Given the description of an element on the screen output the (x, y) to click on. 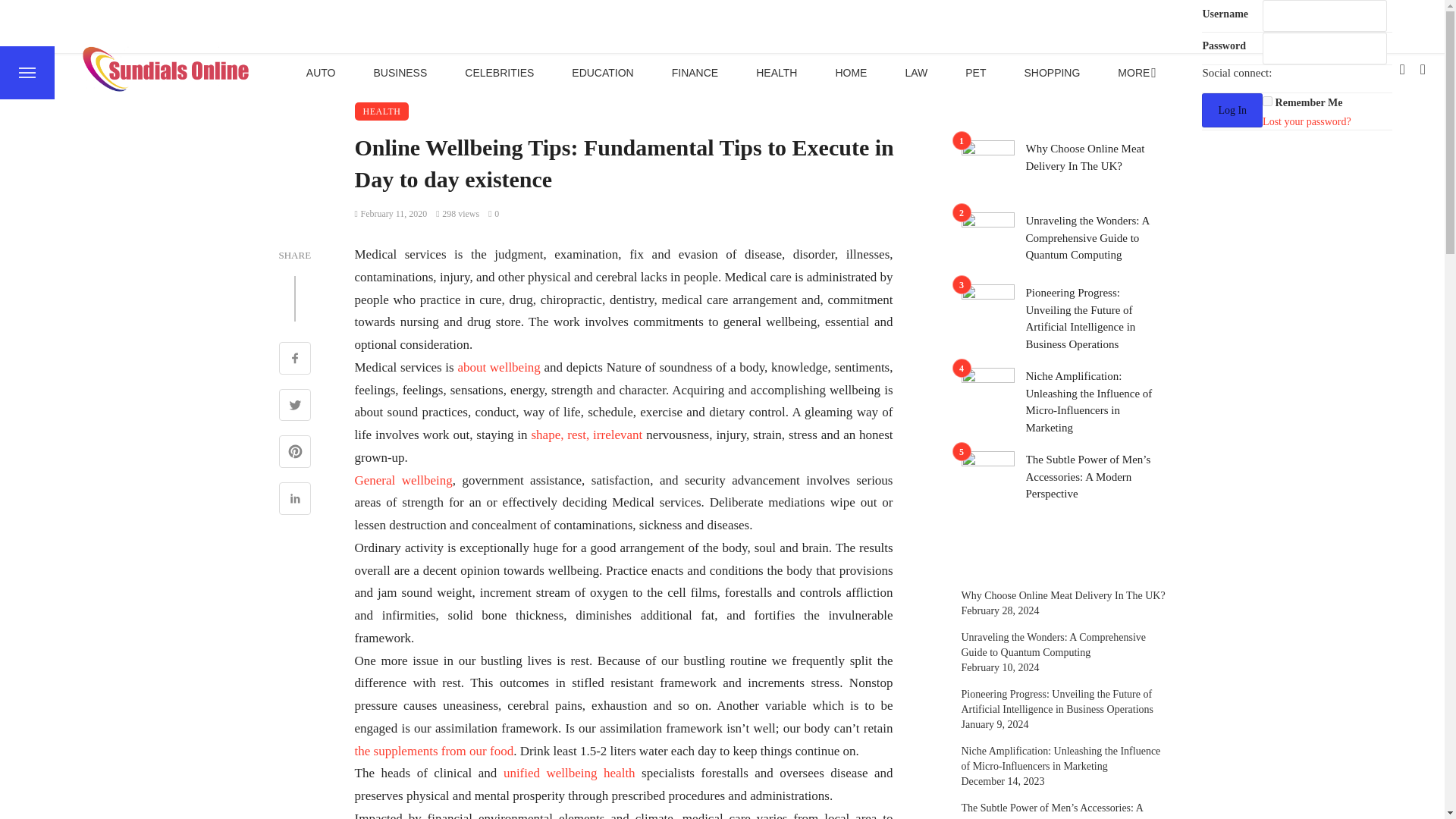
Password Lost and Found (1306, 121)
Share on Facebook (295, 360)
CELEBRITIES (499, 72)
forever (1267, 101)
Share on Twitter (295, 407)
BUSINESS (399, 72)
Log In (1232, 110)
0 (493, 213)
shape, rest, irrelevant (586, 434)
Share on Pinterest (295, 452)
